Given the description of an element on the screen output the (x, y) to click on. 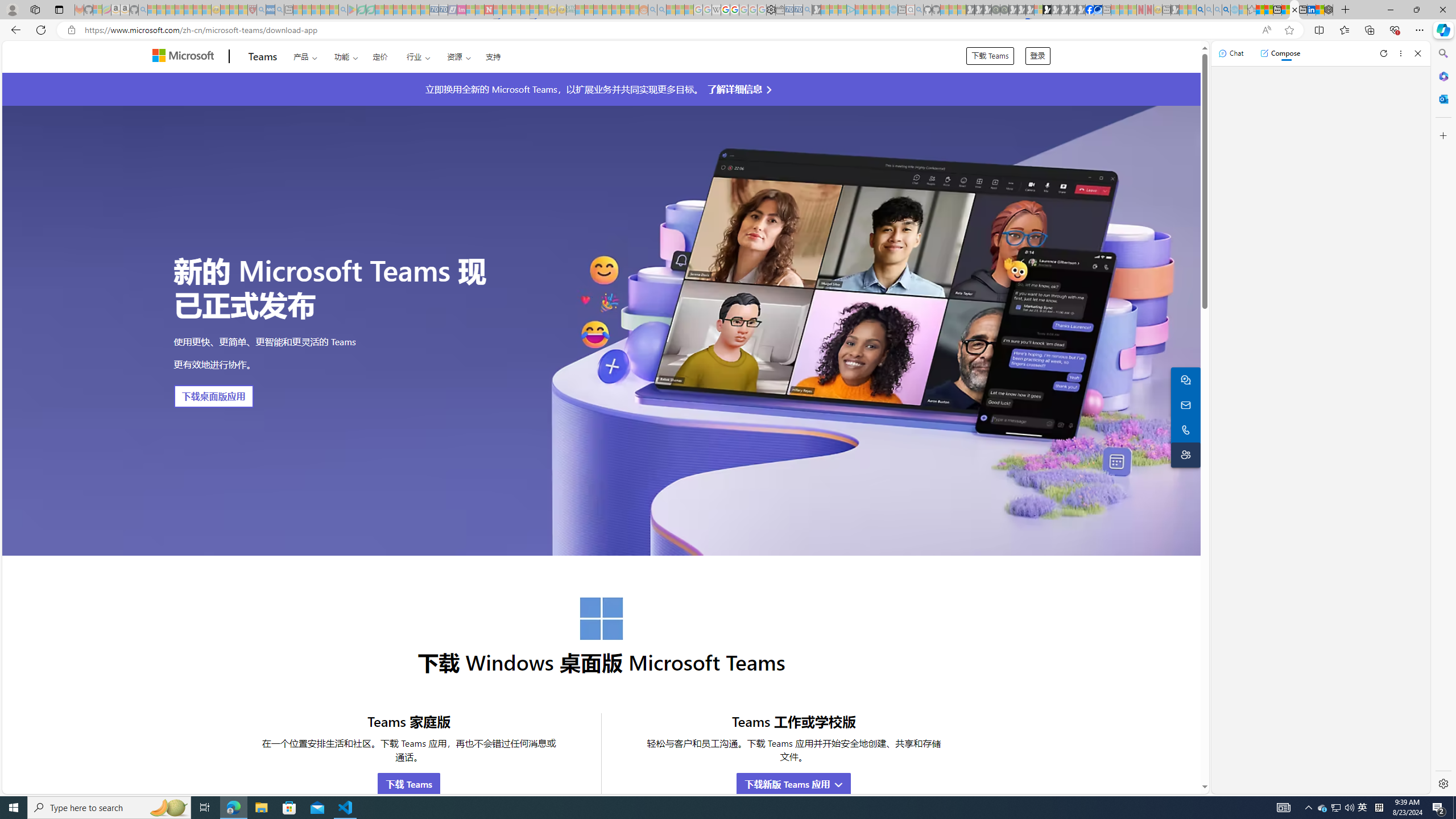
Target page - Wikipedia - Sleeping (716, 9)
utah sues federal government - Search - Sleeping (279, 9)
Bluey: Let's Play! - Apps on Google Play - Sleeping (352, 9)
14 Common Myths Debunked By Scientific Facts - Sleeping (506, 9)
Utah sues federal government - Search - Sleeping (661, 9)
Robert H. Shmerling, MD - Harvard Health - Sleeping (252, 9)
